Given the description of an element on the screen output the (x, y) to click on. 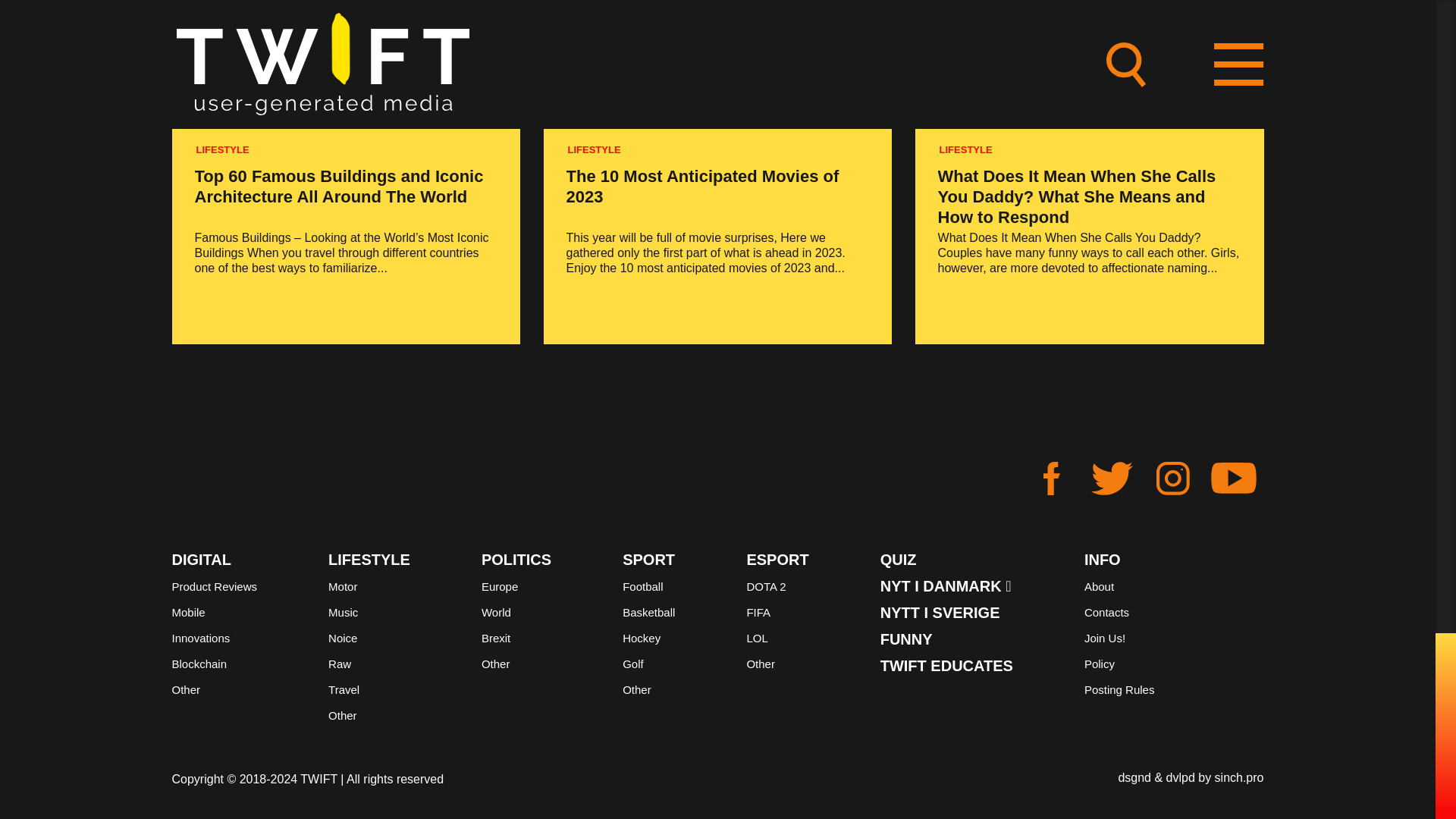
The 10 Most Anticipated Movies of 2023 (703, 186)
